Given the description of an element on the screen output the (x, y) to click on. 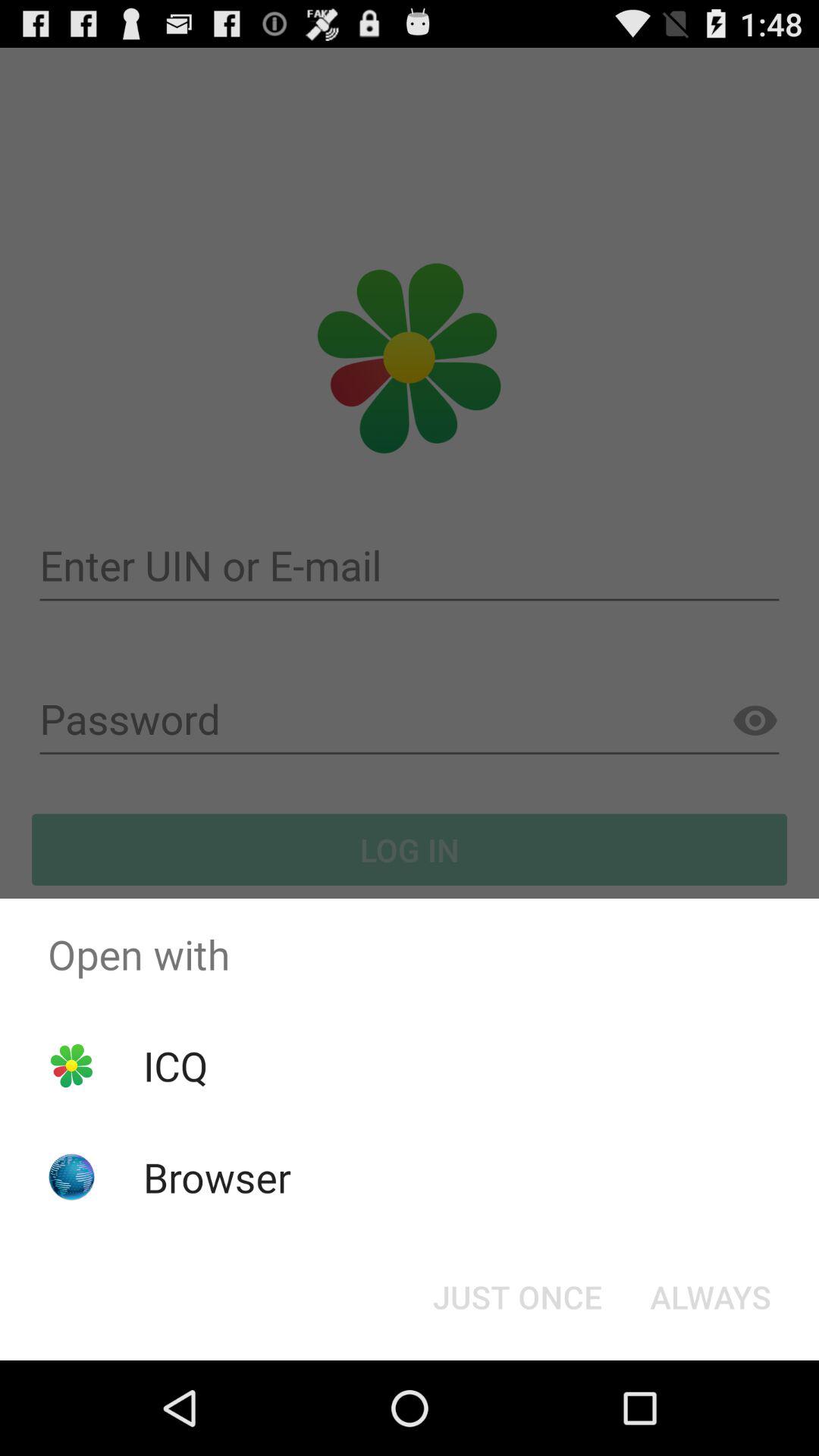
select button to the left of always (517, 1296)
